Given the description of an element on the screen output the (x, y) to click on. 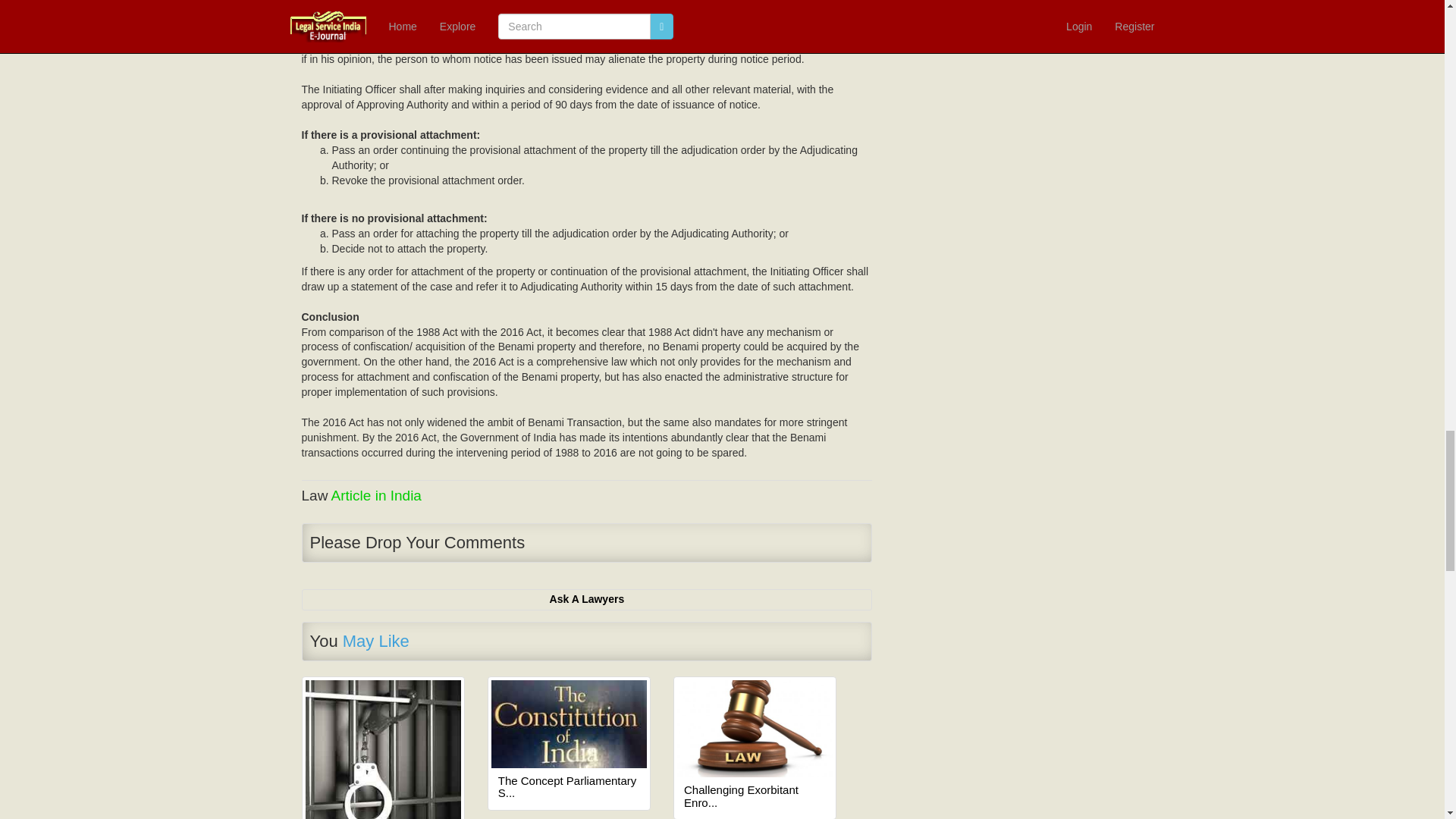
Challenging Exorbitant Enro... (754, 796)
The Concept Parliamentary S... (568, 787)
Ask A Lawyers (587, 598)
